Given the description of an element on the screen output the (x, y) to click on. 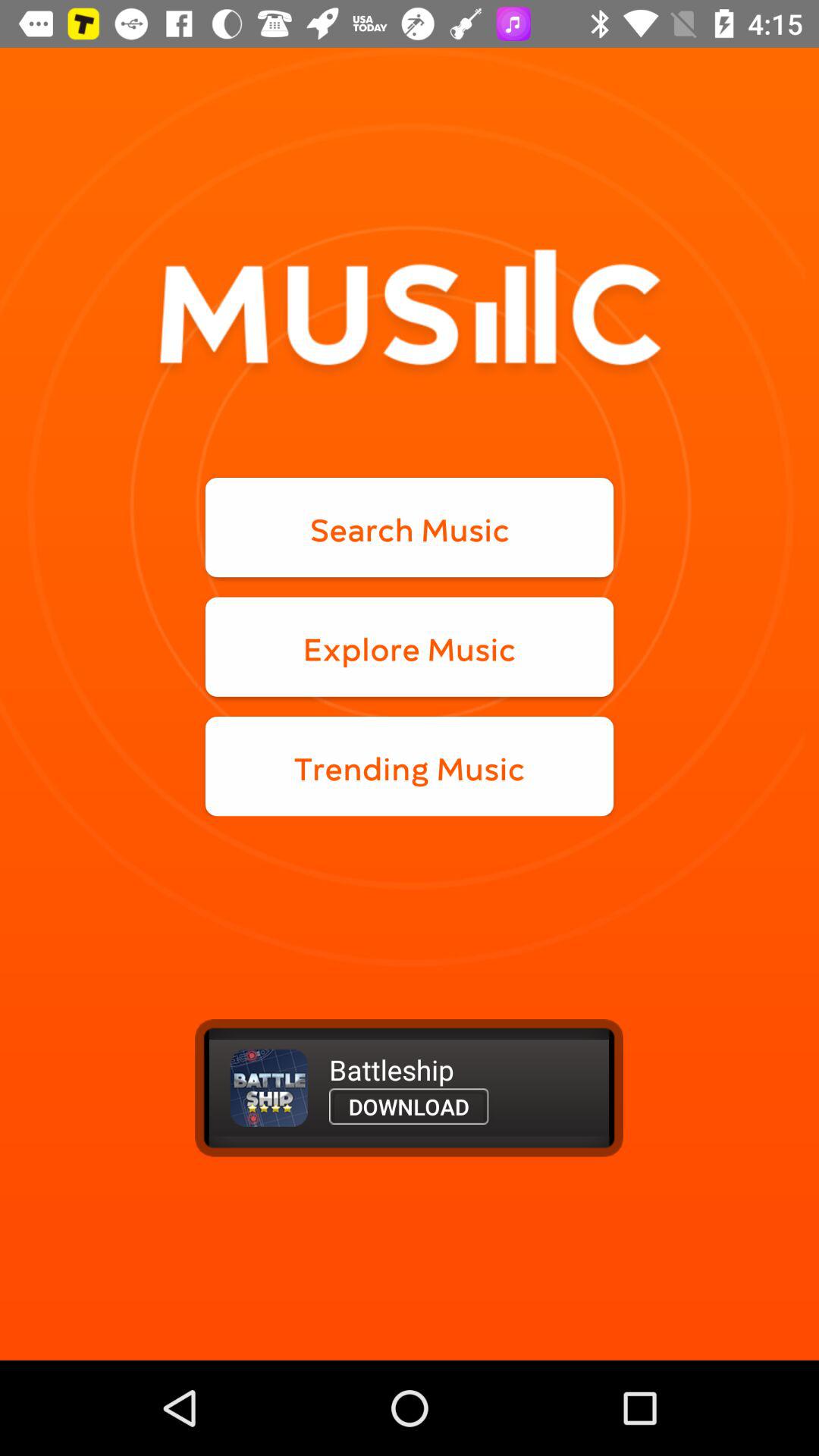
click trending music item (409, 766)
